Given the description of an element on the screen output the (x, y) to click on. 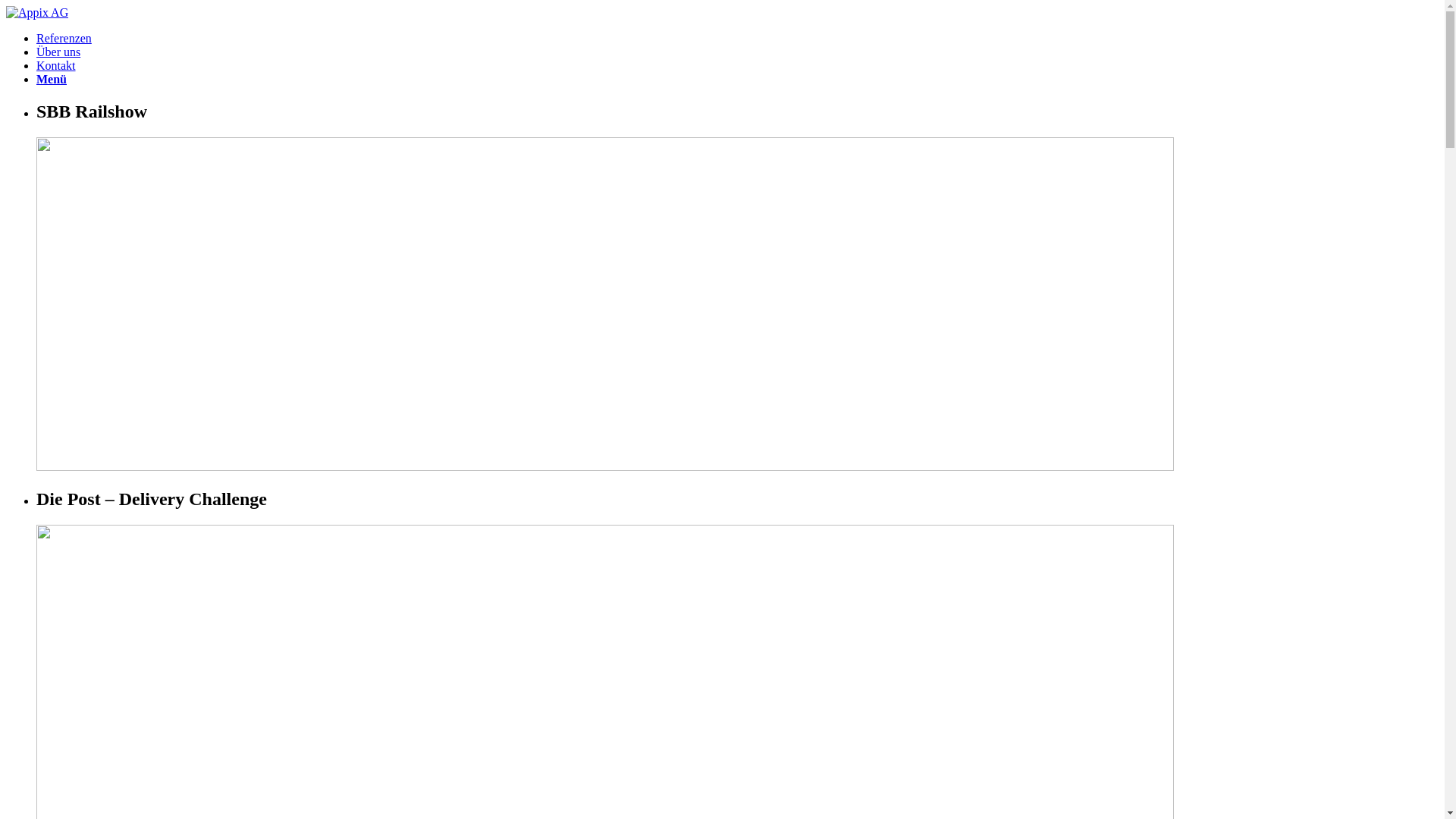
Referenzen Element type: text (63, 37)
Kontakt Element type: text (55, 65)
sbb_Header_Home Element type: hover (604, 303)
